Given the description of an element on the screen output the (x, y) to click on. 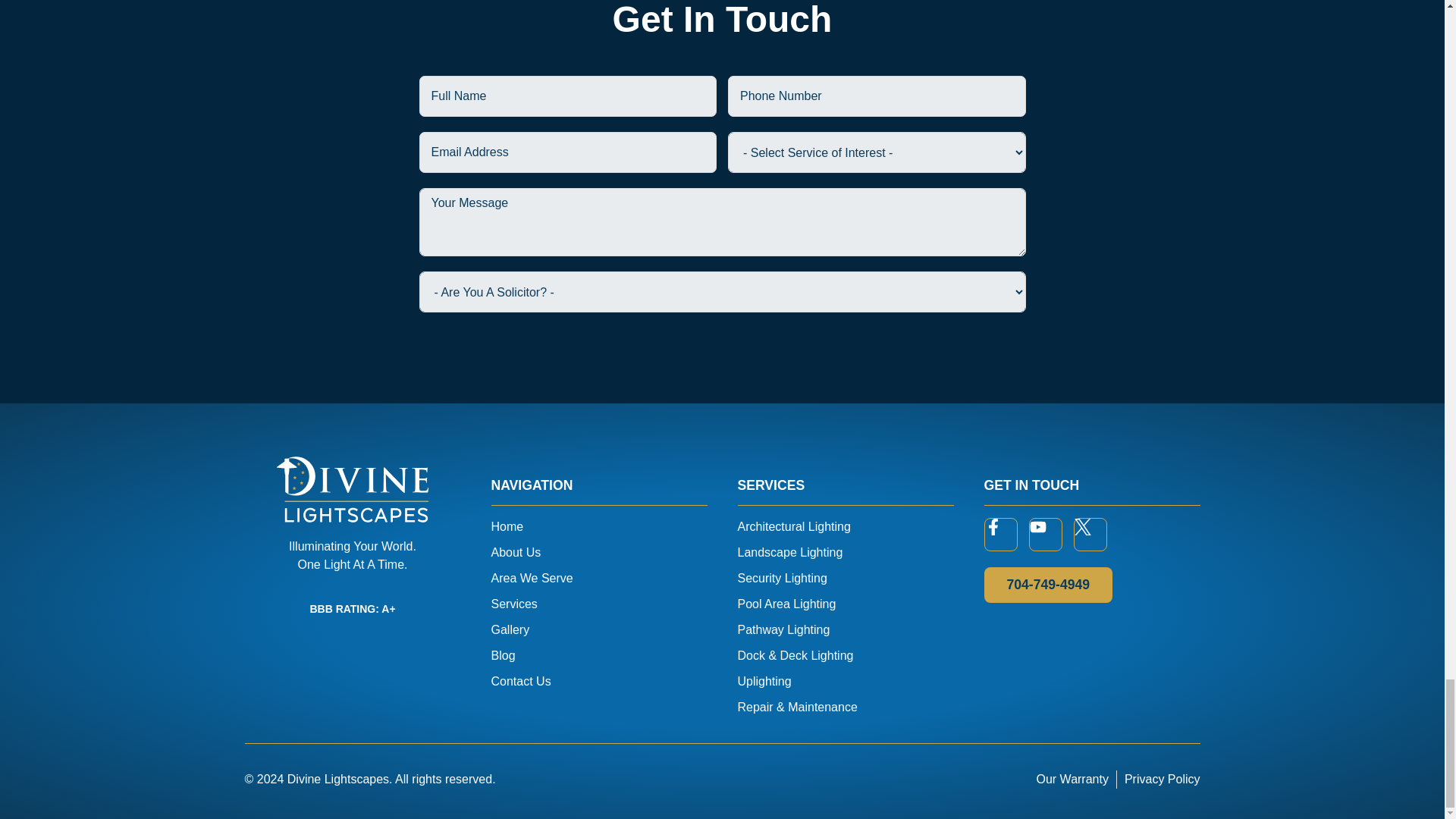
Divine-Lightscapes-White (352, 489)
